Given the description of an element on the screen output the (x, y) to click on. 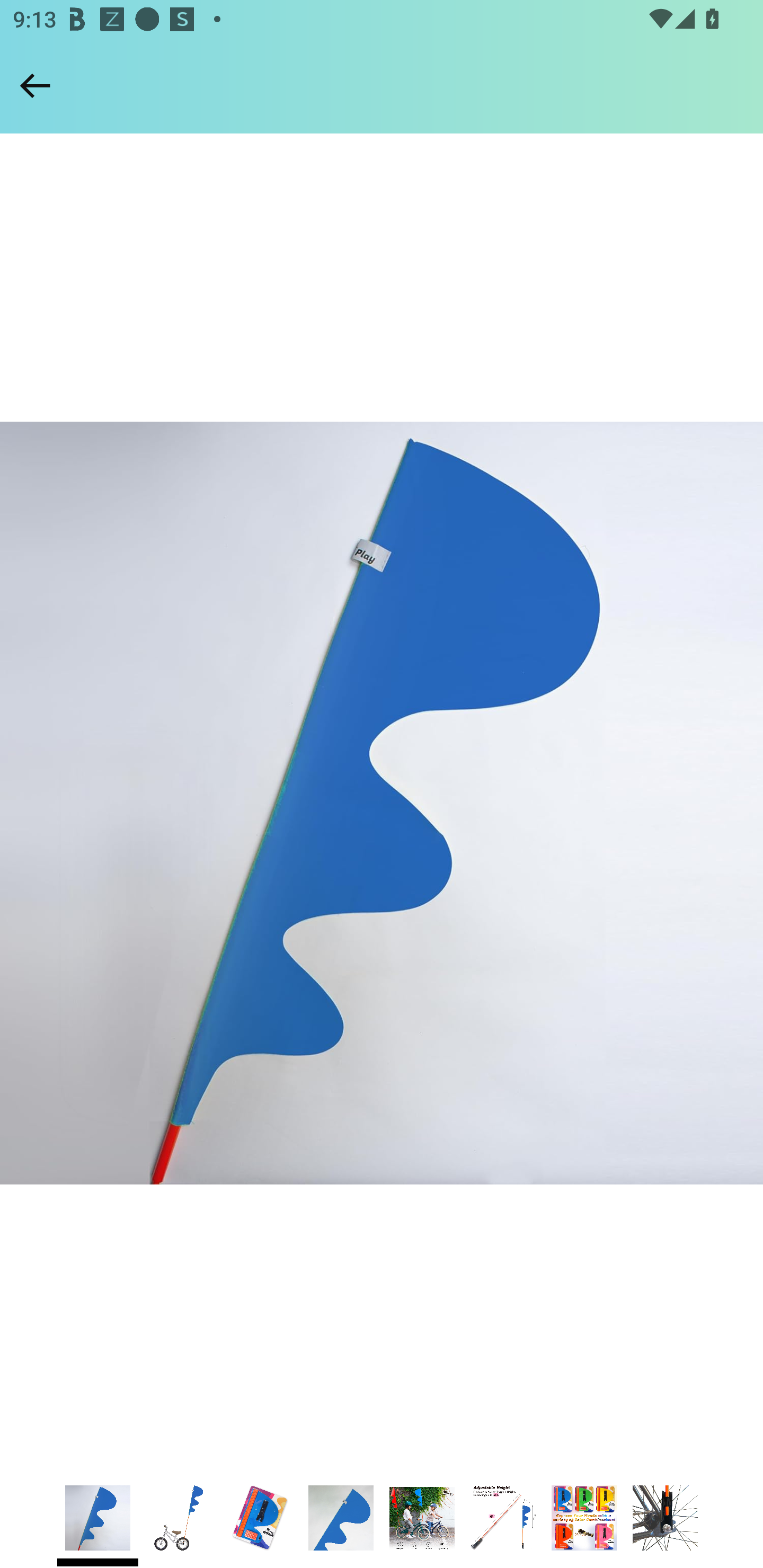
Back (35, 85)
Thumbnail 1 (97, 1517)
Thumbnail 2 (178, 1517)
Thumbnail 3 (259, 1517)
Thumbnail 4 (340, 1517)
Thumbnail 5 (421, 1517)
Thumbnail 6 (502, 1517)
Thumbnail 7 (583, 1517)
Thumbnail 8 (664, 1517)
